Given the description of an element on the screen output the (x, y) to click on. 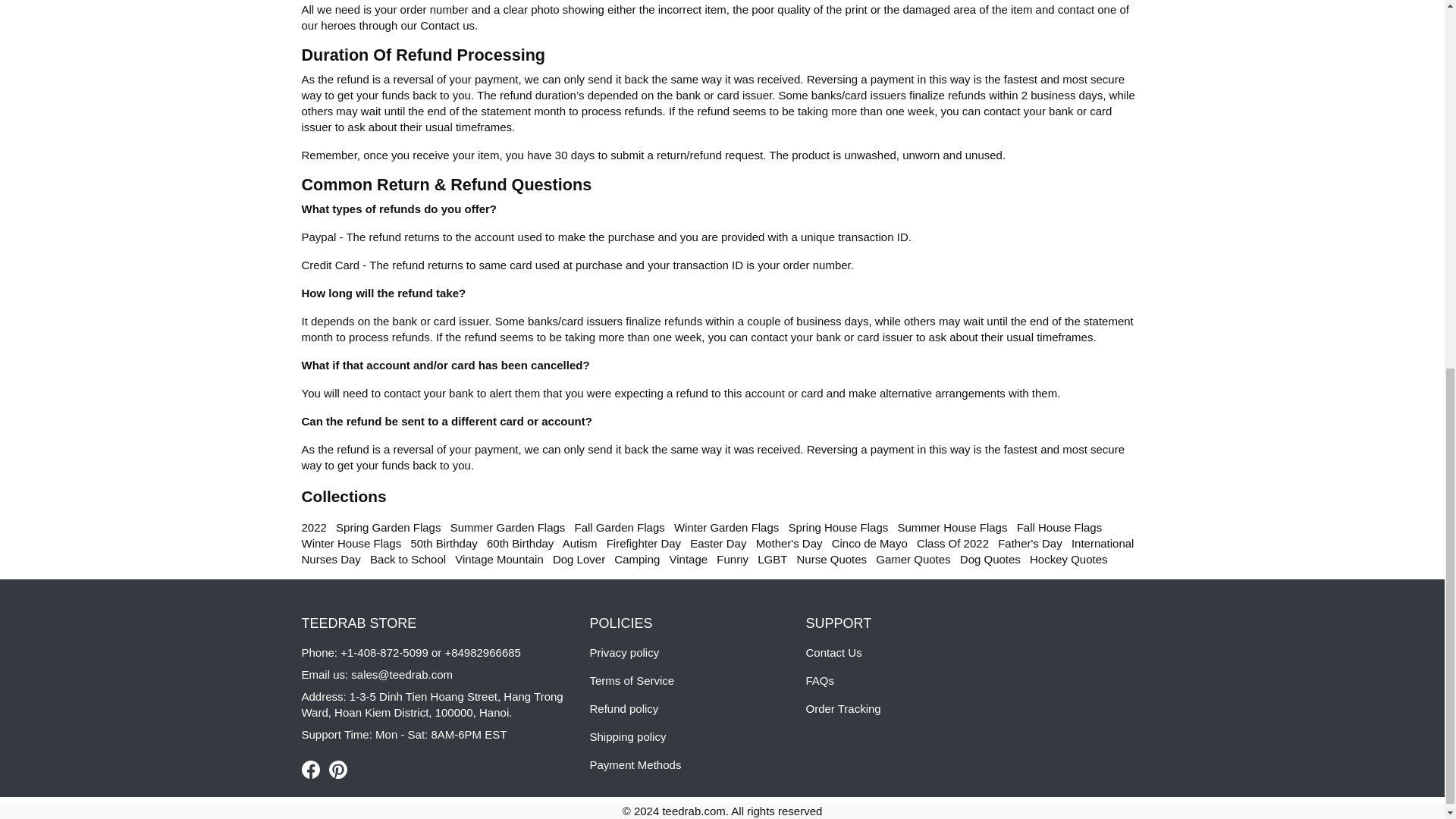
Collection Easter Day (717, 543)
Collection Spring Garden Flags (388, 526)
Collection 50th Birthday (443, 543)
Collection Spring House Flags (837, 526)
Collection Firefighter Day (644, 543)
Collection 60th Birthday (519, 543)
Collection 2022 (313, 526)
Collection Summer Garden Flags (507, 526)
Collection Fall House Flags (1059, 526)
Collection Autism (579, 543)
Collection Mother's Day (788, 543)
Collection Fall Garden Flags (620, 526)
Collection Winter House Flags (351, 543)
Collection Summer House Flags (951, 526)
Collection Winter Garden Flags (726, 526)
